Given the description of an element on the screen output the (x, y) to click on. 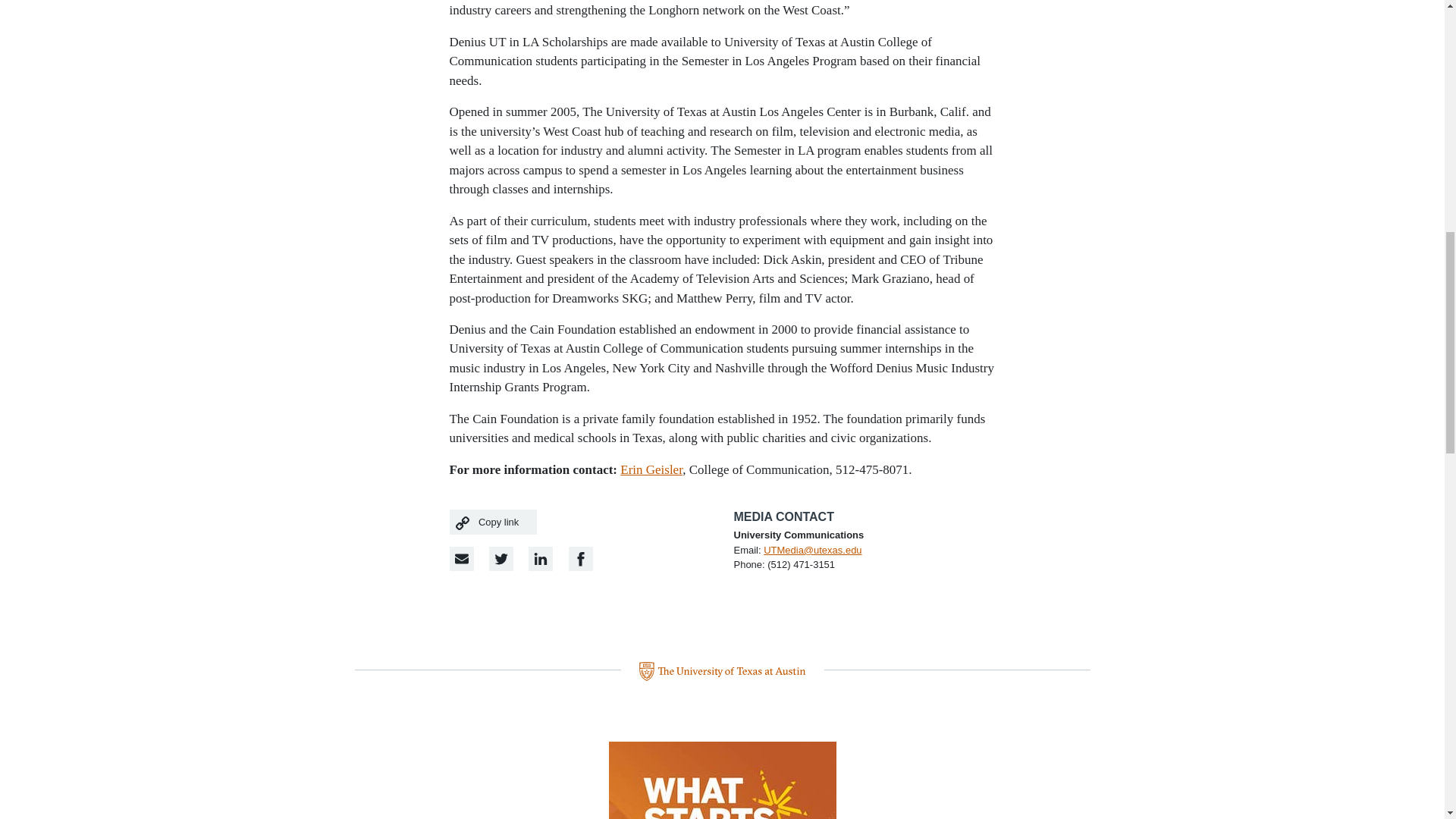
Copy link (492, 521)
Erin Geisler (651, 469)
Email Share Link (460, 558)
